Given the description of an element on the screen output the (x, y) to click on. 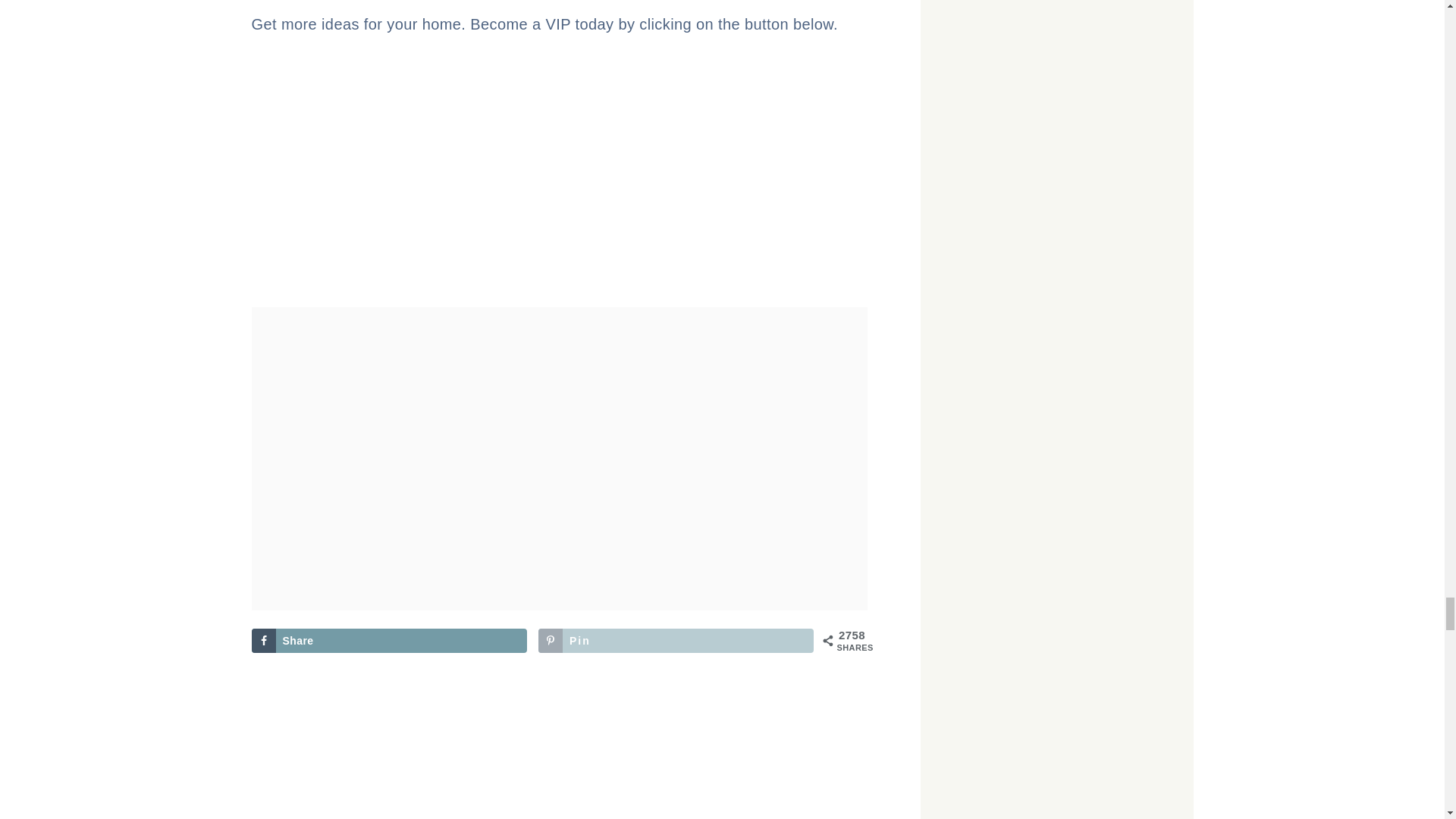
Save to Pinterest (675, 640)
Share on Facebook (389, 640)
